Given the description of an element on the screen output the (x, y) to click on. 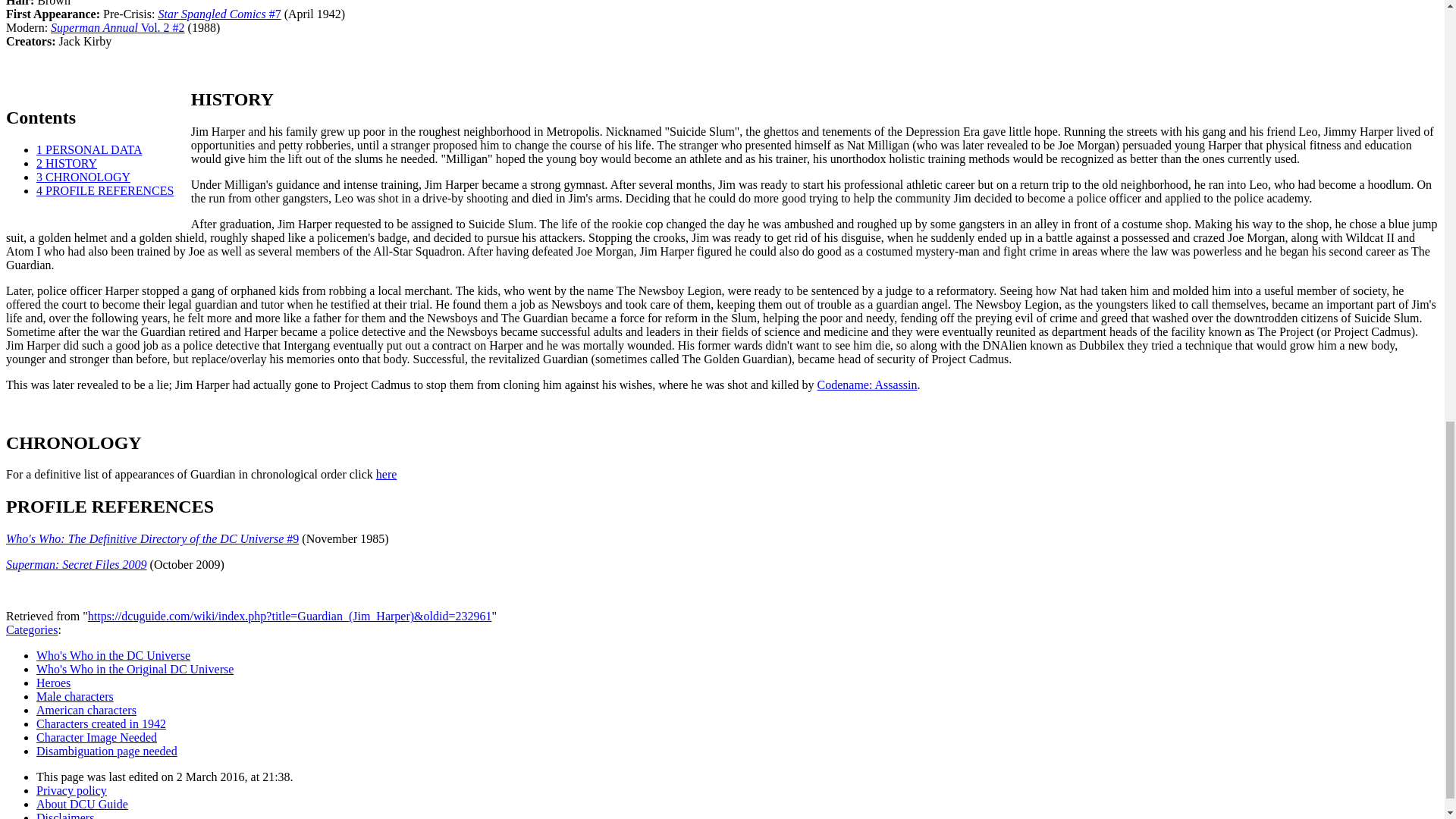
Who's Who: The Definitive Directory of the DC Universe 9 (151, 538)
Superman Annual Vol. 2 2 (117, 27)
Star Spangled Comics 7 (219, 13)
